Given the description of an element on the screen output the (x, y) to click on. 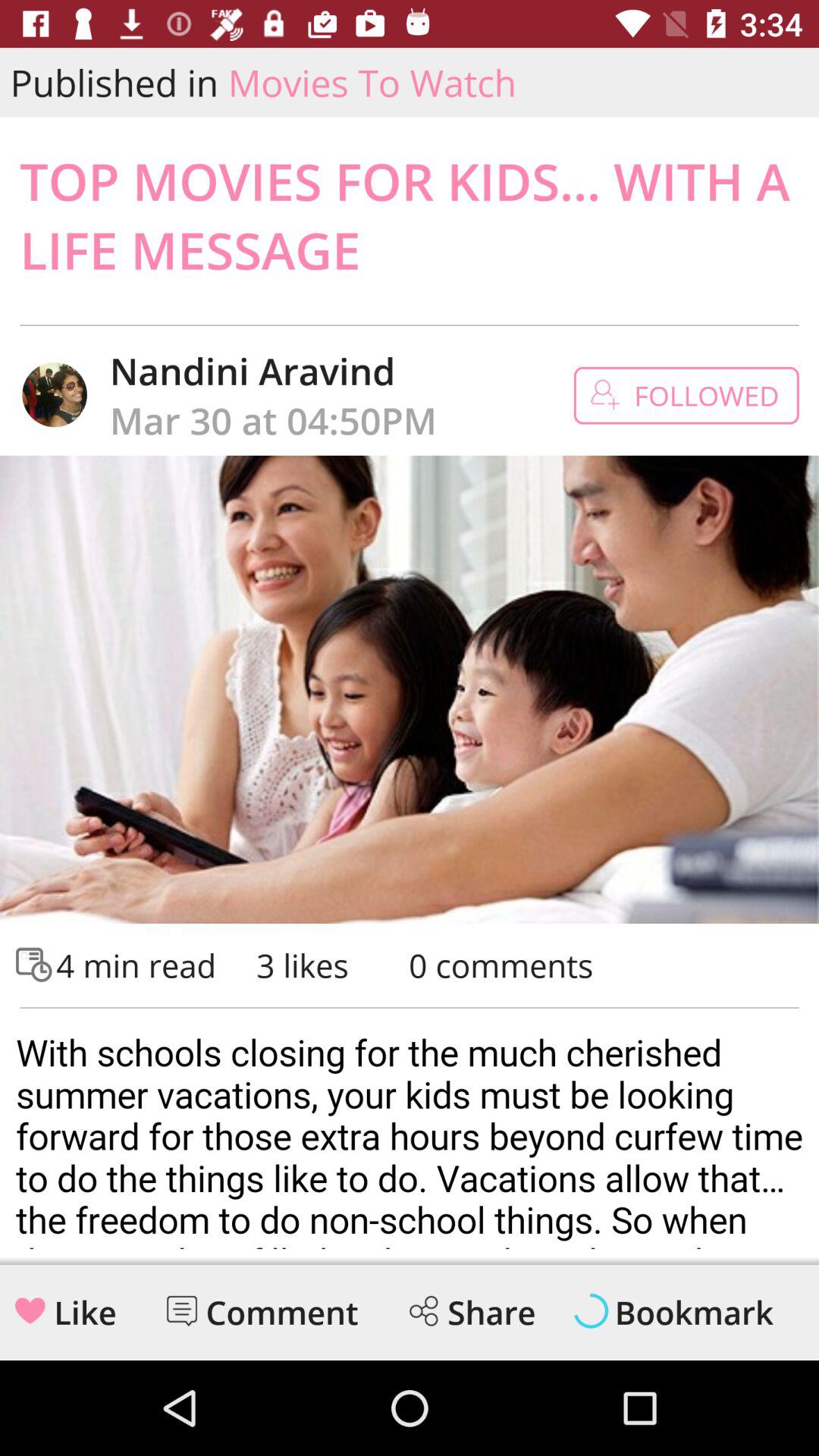
description (409, 1133)
